Given the description of an element on the screen output the (x, y) to click on. 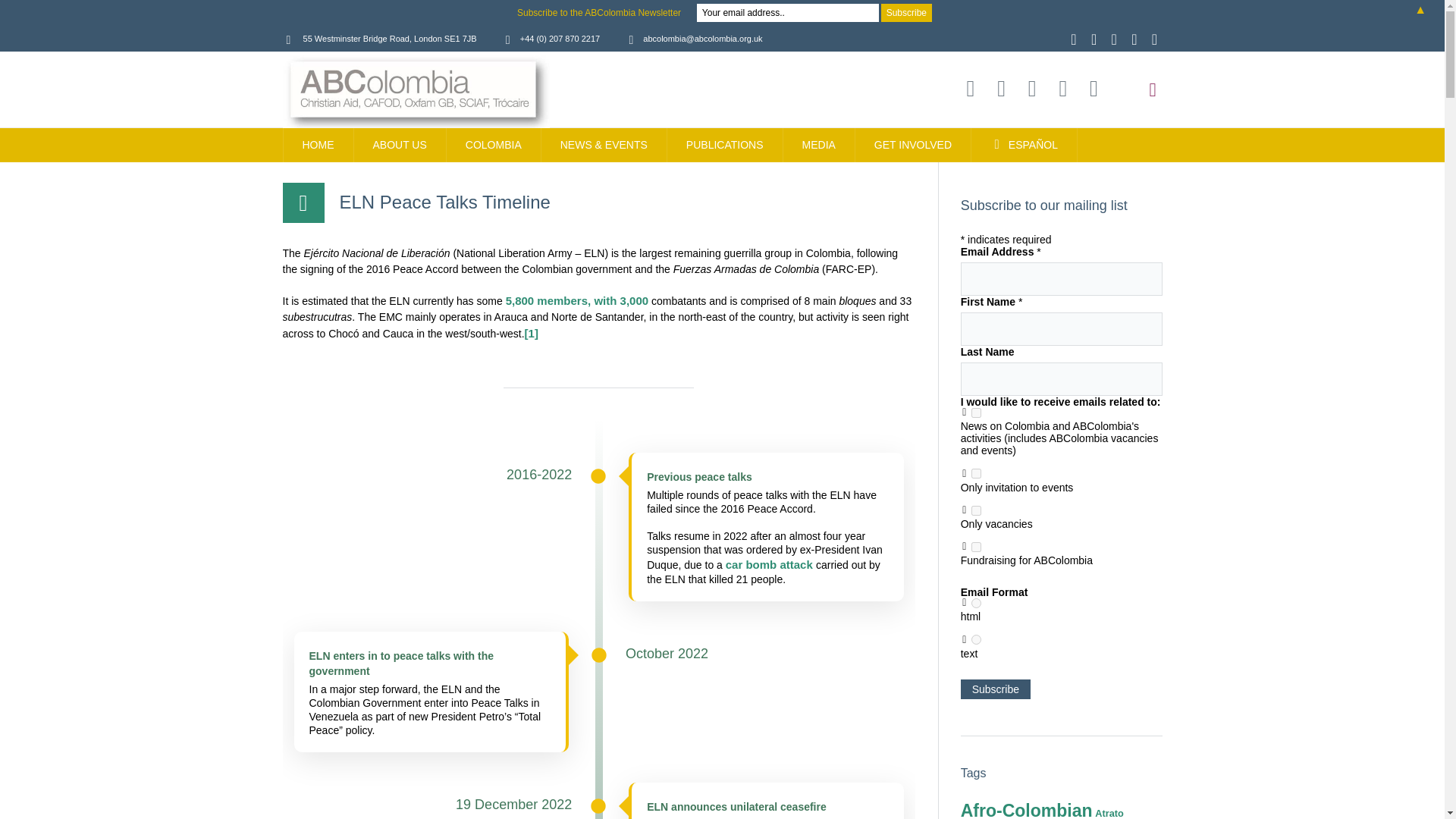
Instagram (1073, 38)
html (976, 603)
YouTube (1062, 87)
YouTube (1133, 38)
HOME (317, 144)
COLOMBIA (493, 144)
2 (976, 473)
text (976, 639)
4 (976, 510)
Subscribe (995, 689)
LinkedIn (1154, 38)
ABOUT US (399, 144)
Facebook (1113, 38)
Instagram (970, 87)
1 (976, 412)
